Given the description of an element on the screen output the (x, y) to click on. 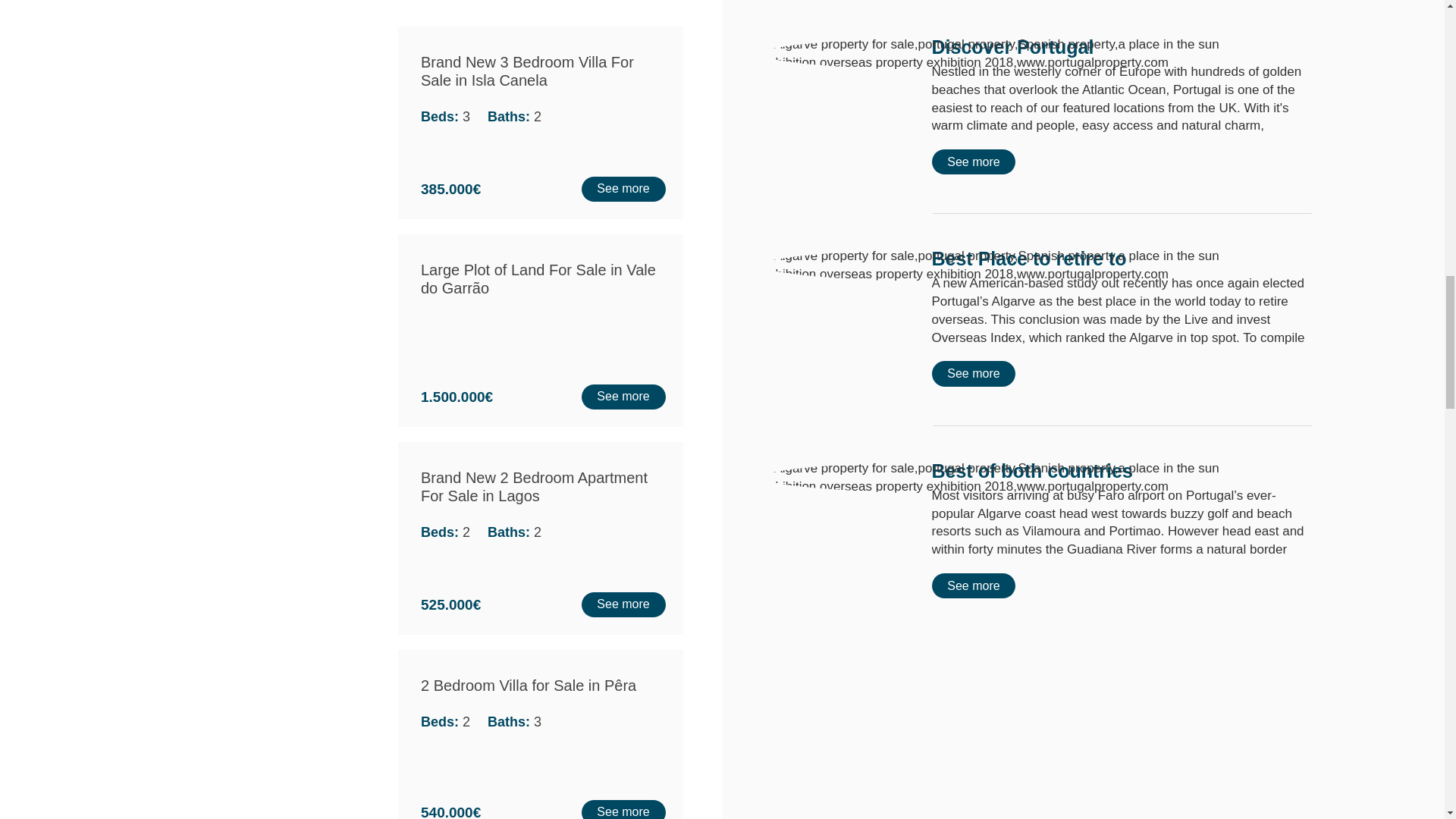
See more (972, 373)
See more (972, 161)
See more (972, 585)
